Given the description of an element on the screen output the (x, y) to click on. 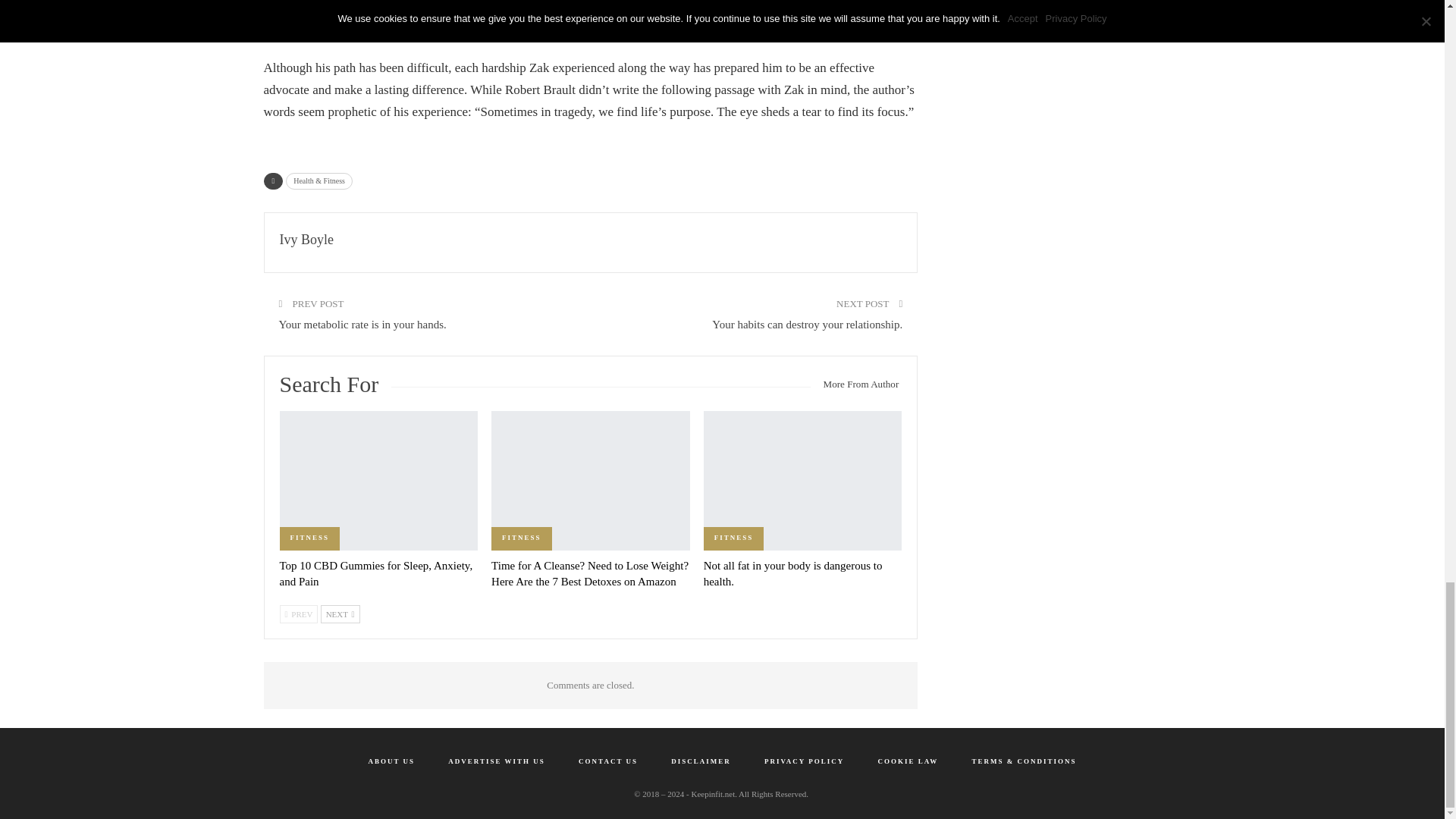
Top 10 CBD Gummies for Sleep, Anxiety, and Pain (378, 480)
FITNESS (521, 538)
NEXT (339, 614)
Top 10 CBD Gummies for Sleep, Anxiety, and Pain (375, 573)
Top 10 CBD Gummies for Sleep, Anxiety, and Pain (375, 573)
More From Author (856, 383)
Search For (335, 387)
FITNESS (309, 538)
PREV (298, 614)
Not all fat in your body is dangerous to health. (792, 573)
ABOUT US (391, 760)
Next (339, 614)
Previous (298, 614)
Not all fat in your body is dangerous to health. (802, 480)
